Given the description of an element on the screen output the (x, y) to click on. 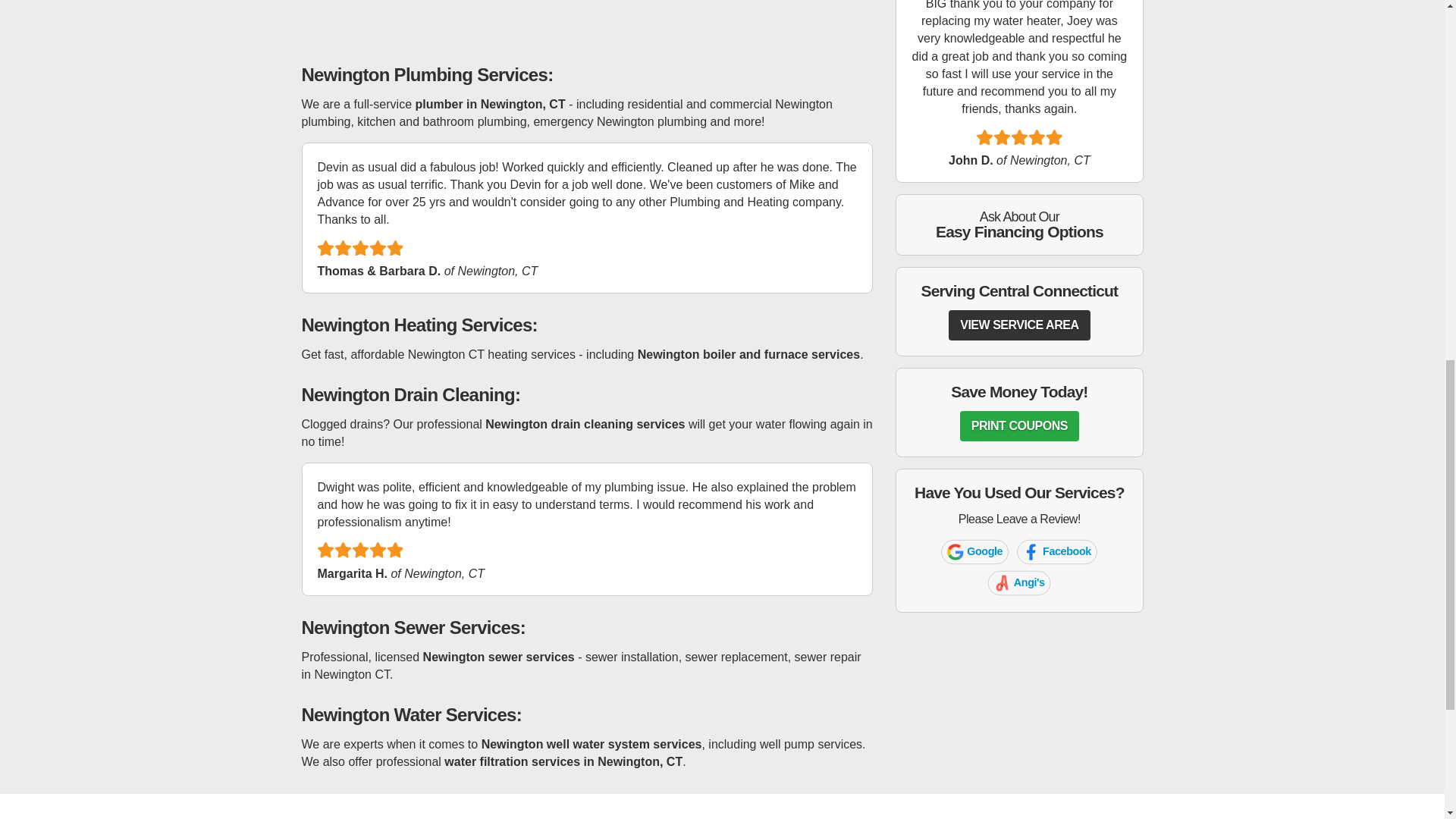
VIEW SERVICE AREA (1023, 584)
PRINT COUPONS (1061, 553)
